Given the description of an element on the screen output the (x, y) to click on. 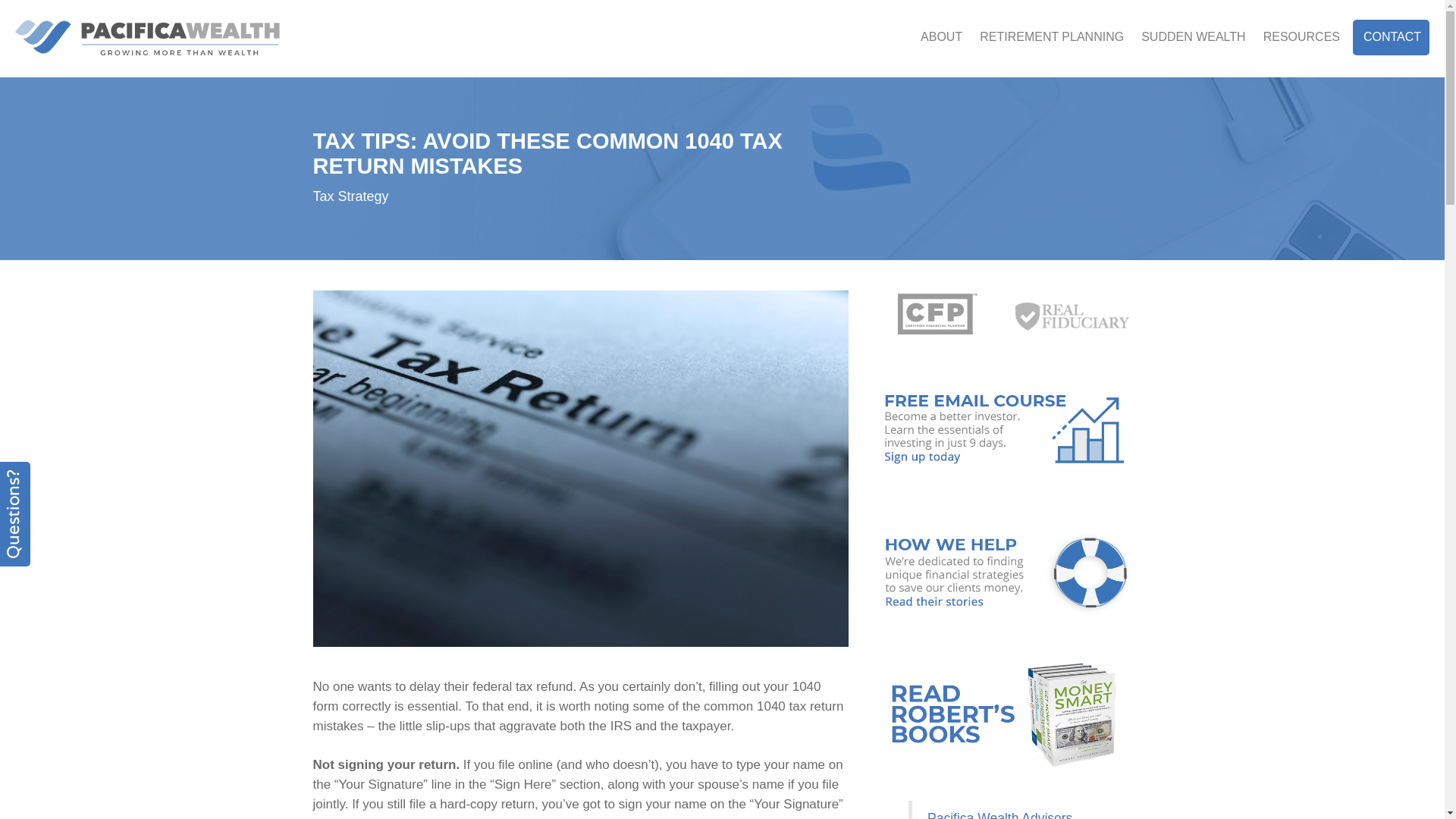
better-investor-email-course (1005, 427)
CONTACT (1390, 36)
ABOUT (941, 36)
RETIREMENT PLANNING (1051, 36)
irvine-financial-planner-how-we-help (1005, 571)
Tax Strategy (350, 196)
read-robert-pagliarinis-books (1005, 714)
SUDDEN WEALTH (1192, 36)
financial-advisor-irvine-pacifica-wealth (147, 37)
RESOURCES (1301, 36)
